Given the description of an element on the screen output the (x, y) to click on. 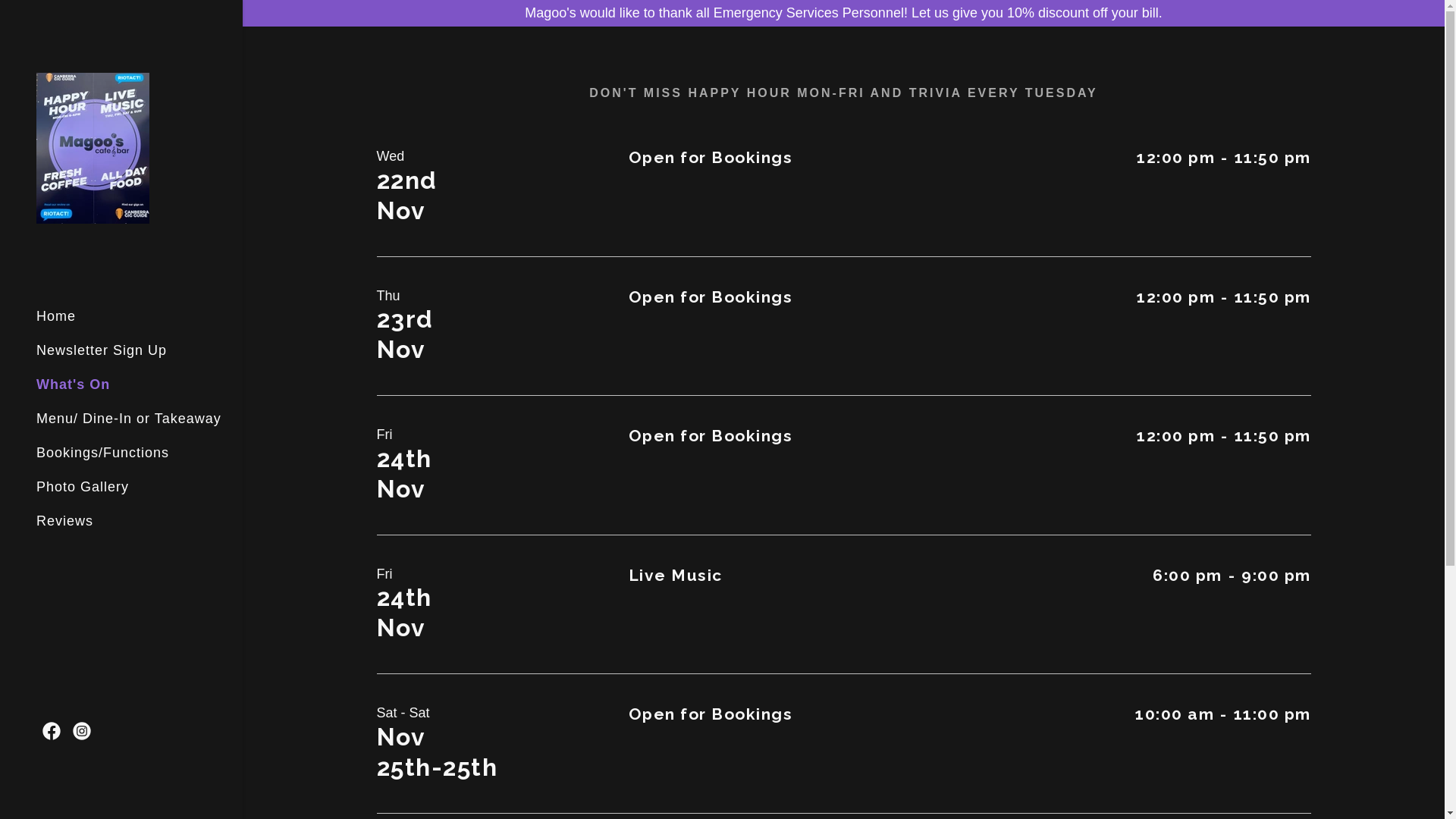
Bookings/Functions Element type: text (102, 452)
What's On Element type: text (72, 384)
Photo Gallery Element type: text (82, 486)
Newsletter Sign Up Element type: text (101, 349)
Menu/ Dine-In or Takeaway Element type: text (128, 418)
Home Element type: text (55, 315)
Reviews Element type: text (64, 520)
Magoo's Cafe & Bar Element type: hover (92, 146)
